Given the description of an element on the screen output the (x, y) to click on. 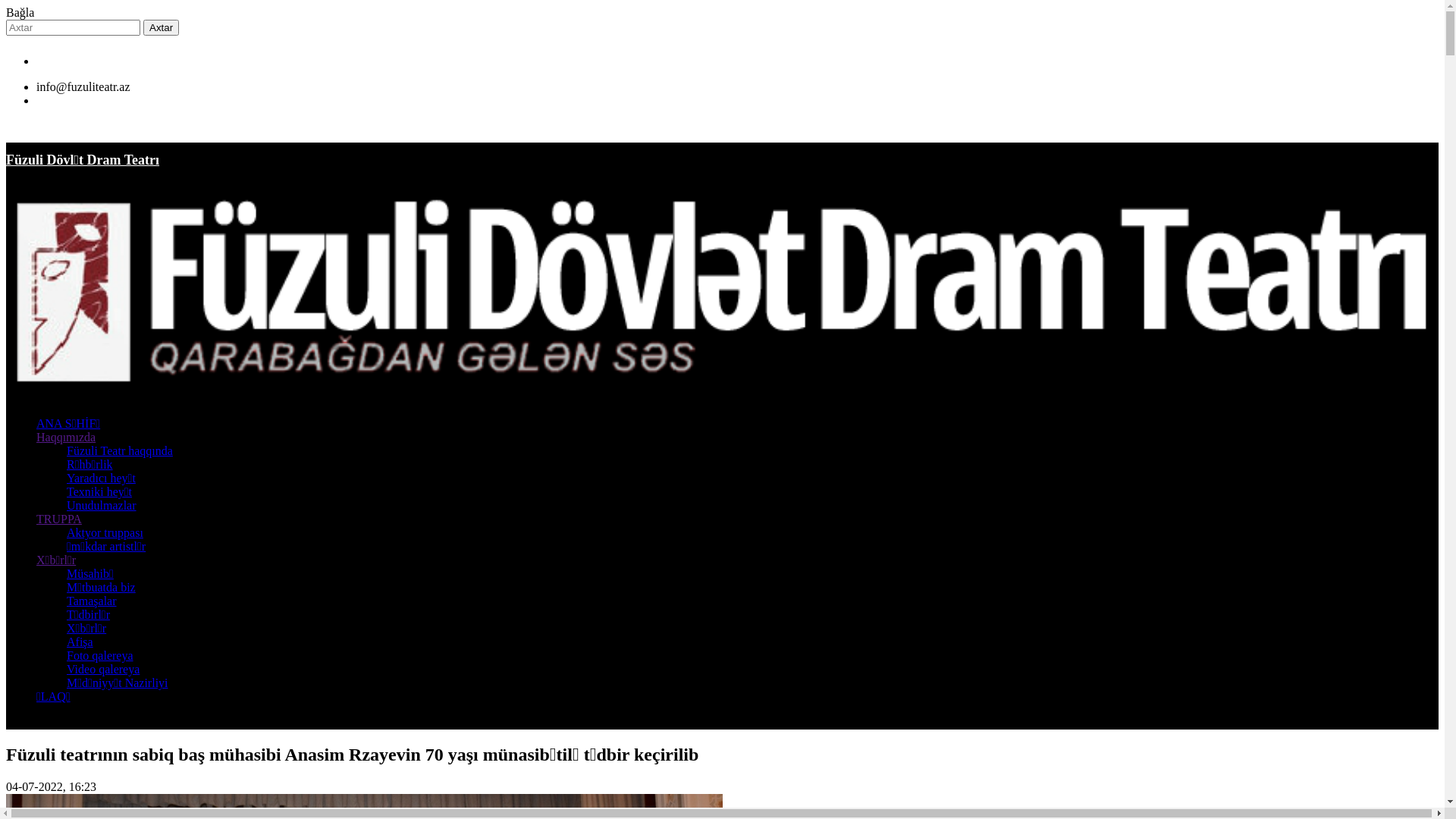
Video qalereya Element type: text (102, 668)
Unudulmazlar Element type: text (101, 504)
04-07-2022, 16:23 Element type: text (51, 786)
TRUPPA Element type: text (58, 518)
Axtar Element type: text (160, 27)
Foto qalereya Element type: text (99, 655)
